Given the description of an element on the screen output the (x, y) to click on. 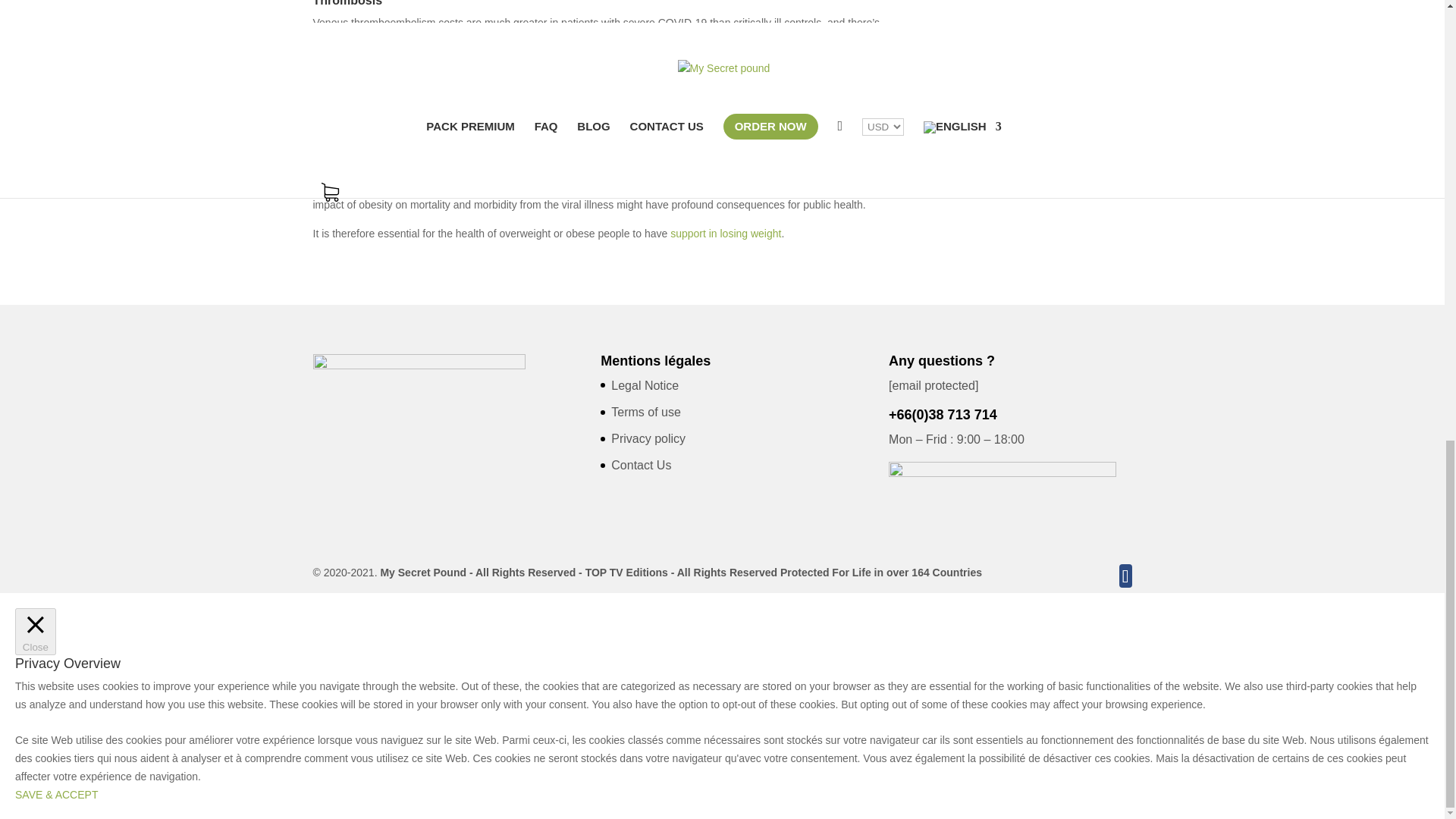
support in losing weight (724, 233)
Privacy policy (648, 438)
Terms of use (646, 411)
Legal Notice (644, 385)
Contact Us (641, 464)
My Secret Pound (422, 572)
